Given the description of an element on the screen output the (x, y) to click on. 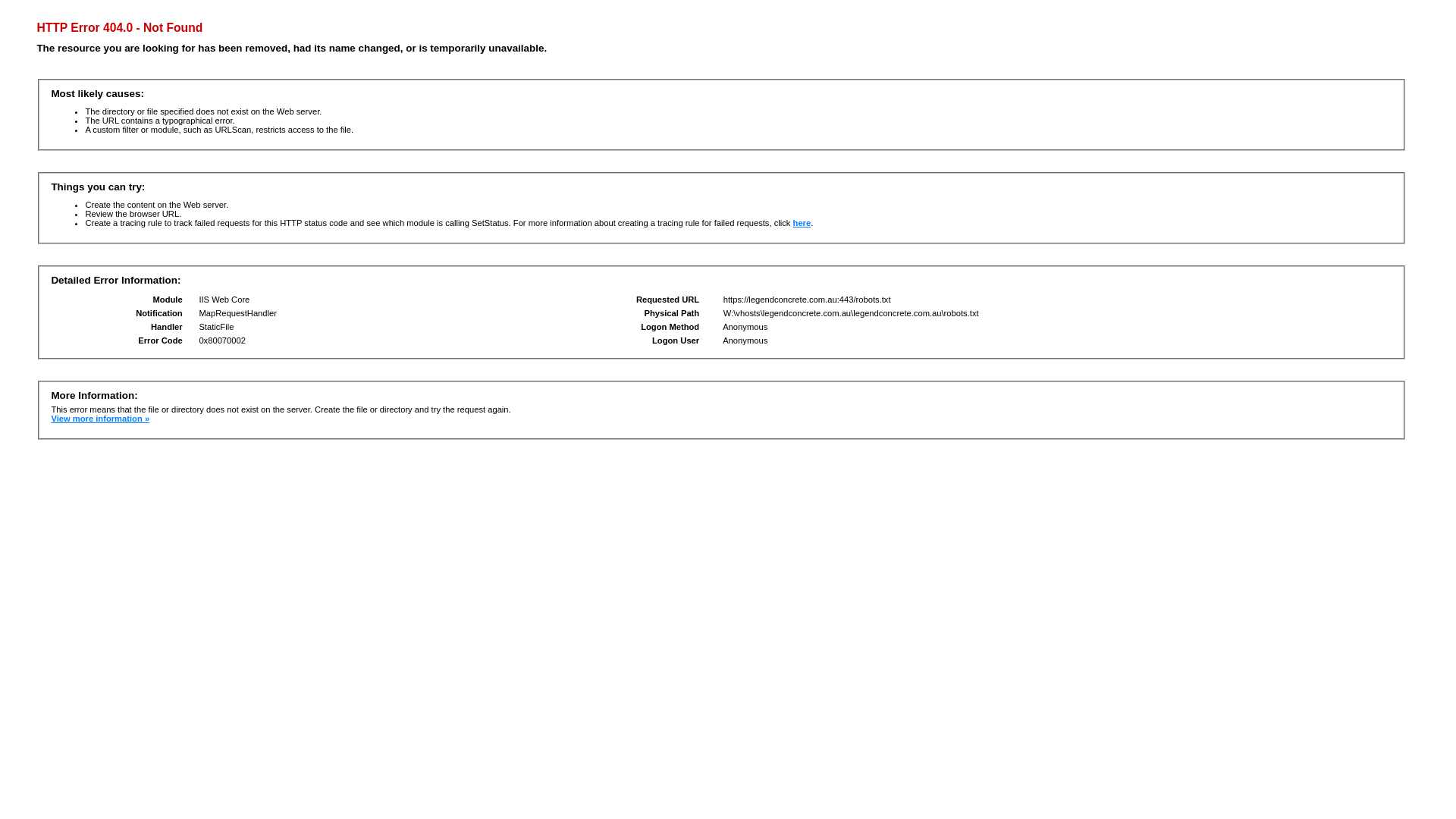
here Element type: text (802, 222)
